Given the description of an element on the screen output the (x, y) to click on. 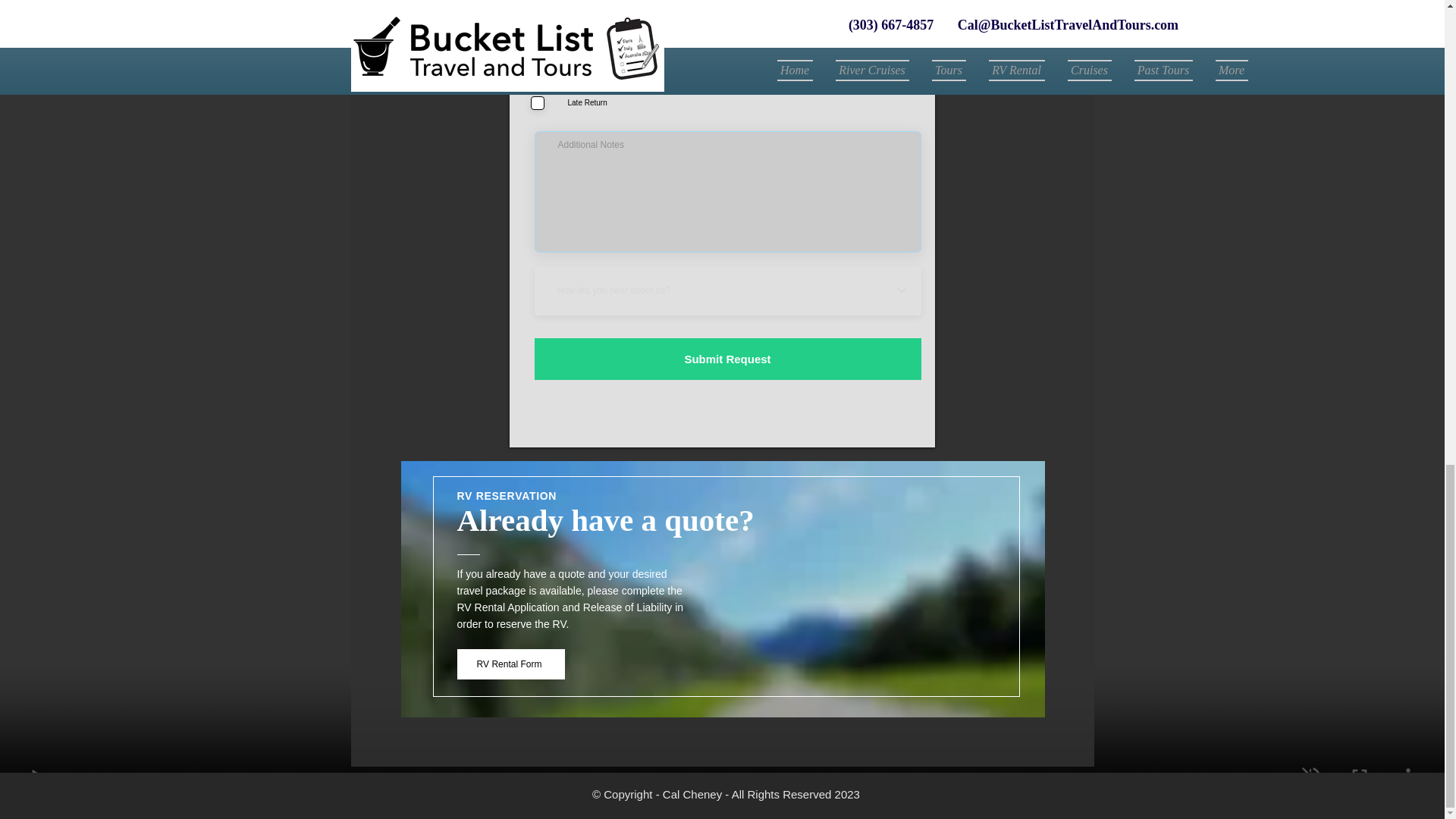
RV Rental Form (510, 664)
Submit Request (727, 359)
